Given the description of an element on the screen output the (x, y) to click on. 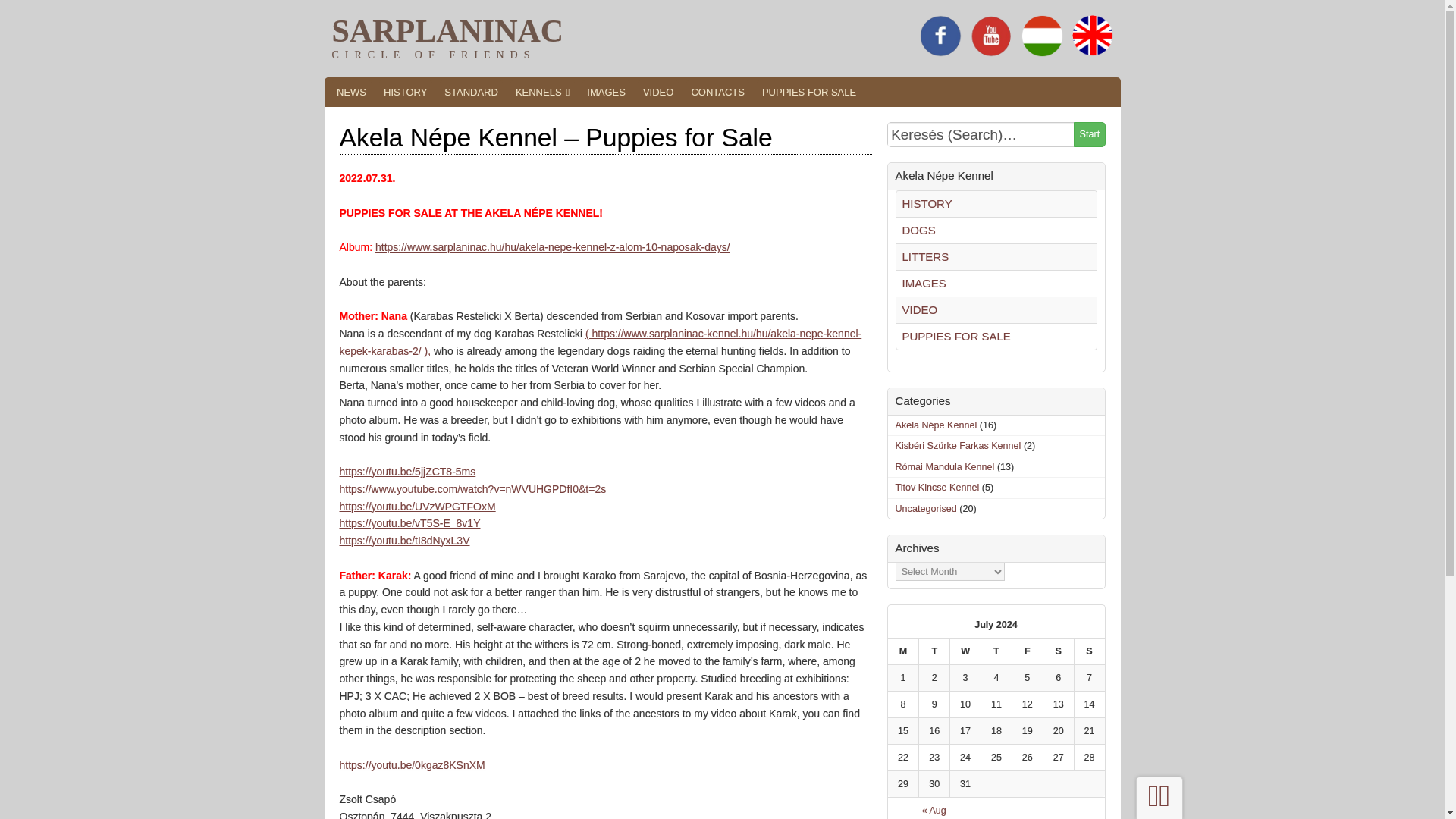
VIDEO (657, 91)
STANDARD (471, 91)
SARPLANINAC (447, 30)
Start (1089, 134)
KENNELS (542, 91)
IMAGES (606, 91)
Sunday (1089, 651)
Tuesday (933, 651)
SARPLANINAC (447, 30)
Thursday (995, 651)
Friday (1026, 651)
Start (1089, 134)
Saturday (1058, 651)
NEWS (351, 91)
HISTORY (405, 91)
